Given the description of an element on the screen output the (x, y) to click on. 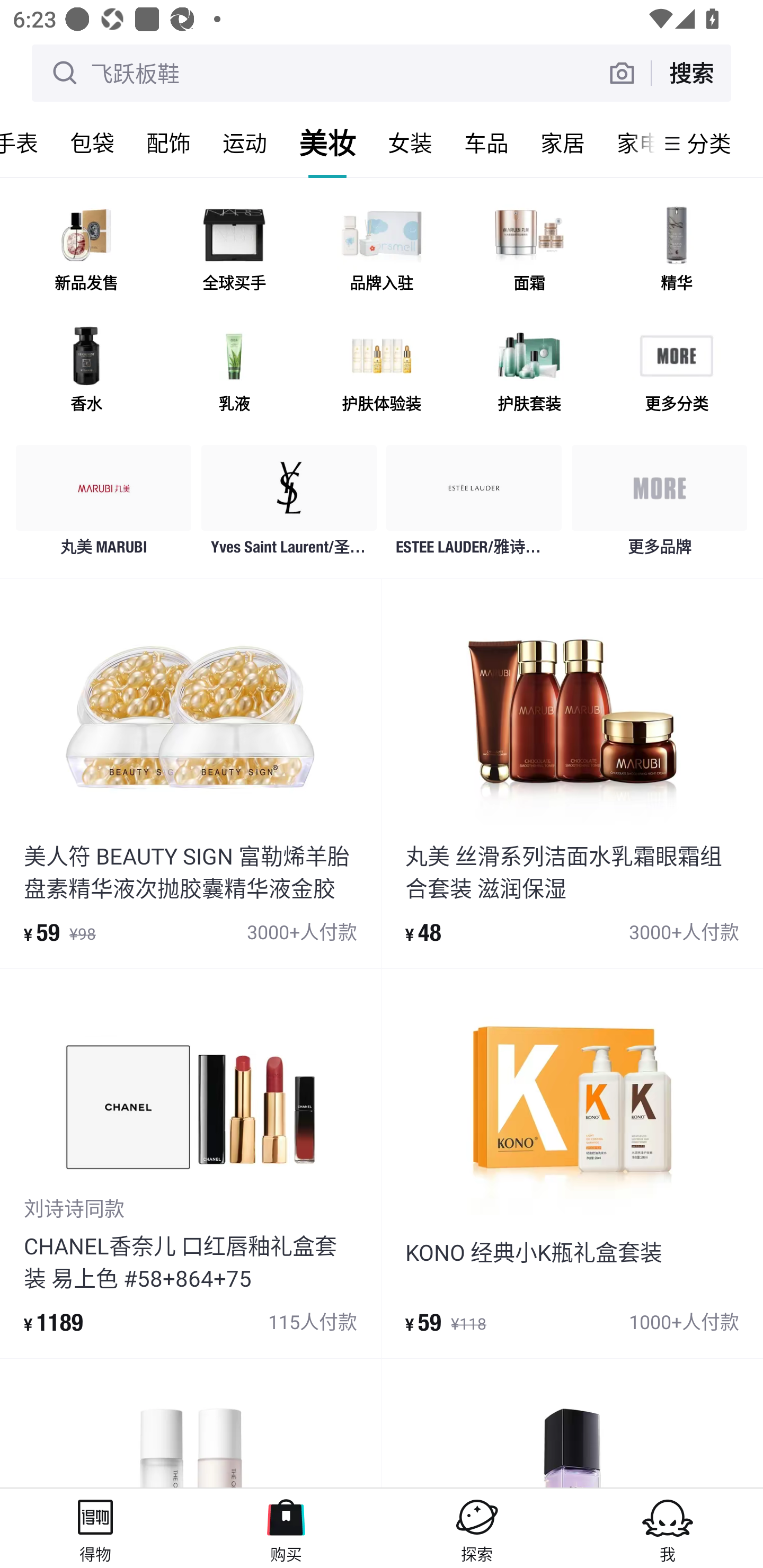
搜索 (690, 72)
手表 (27, 143)
包袋 (92, 143)
配饰 (168, 143)
运动 (244, 143)
美妆 (327, 143)
女装 (410, 143)
车品 (486, 143)
家居 (562, 143)
家电 (627, 143)
分类 (708, 143)
新品发售 (86, 251)
全球买手 (233, 251)
品牌入驻 (381, 251)
面霜 (528, 251)
精华 (676, 251)
香水 (86, 372)
乳液 (233, 372)
护肤体验装 (381, 372)
护肤套装 (528, 372)
更多分类 (676, 372)
丸美 MARUBI (103, 505)
Yves Saint Laurent/圣罗兰 (288, 505)
ESTEE LAUDER/雅诗兰黛 (473, 505)
更多品牌 (658, 505)
product_item KONO 经典小K瓶礼盒套装 ¥ 59 ¥118 1000+人付款 (572, 1163)
得物 (95, 1528)
购买 (285, 1528)
探索 (476, 1528)
我 (667, 1528)
